Given the description of an element on the screen output the (x, y) to click on. 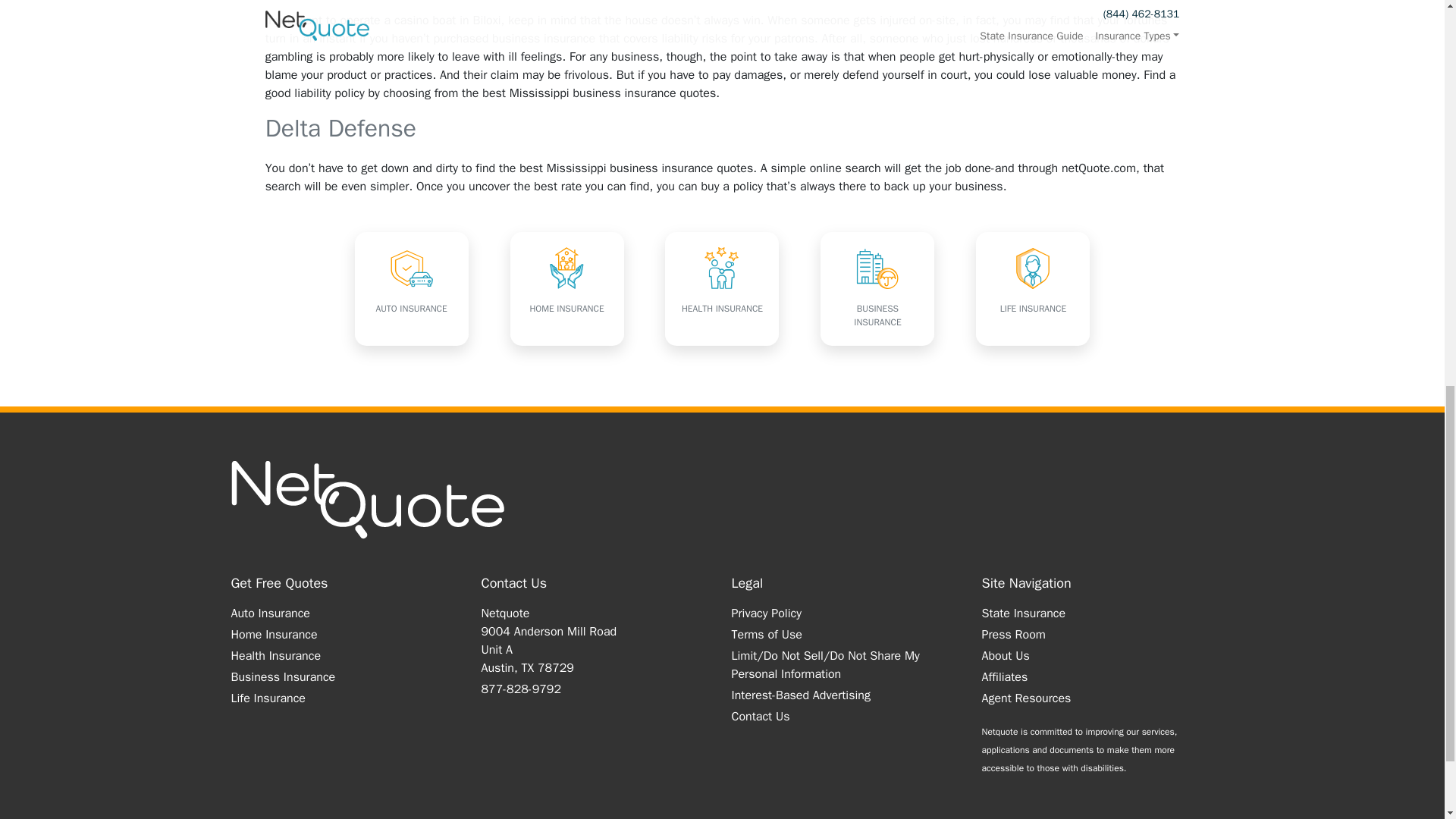
HEALTH INSURANCE (721, 288)
Home Insurance (273, 634)
Business Insurance (282, 676)
BUSINESS INSURANCE (877, 288)
Privacy Policy (765, 613)
LIFE INSURANCE (1032, 288)
Auto Insurance (269, 613)
HOME INSURANCE (567, 288)
Health Insurance (275, 655)
Life Insurance (267, 698)
AUTO INSURANCE (411, 288)
